Given the description of an element on the screen output the (x, y) to click on. 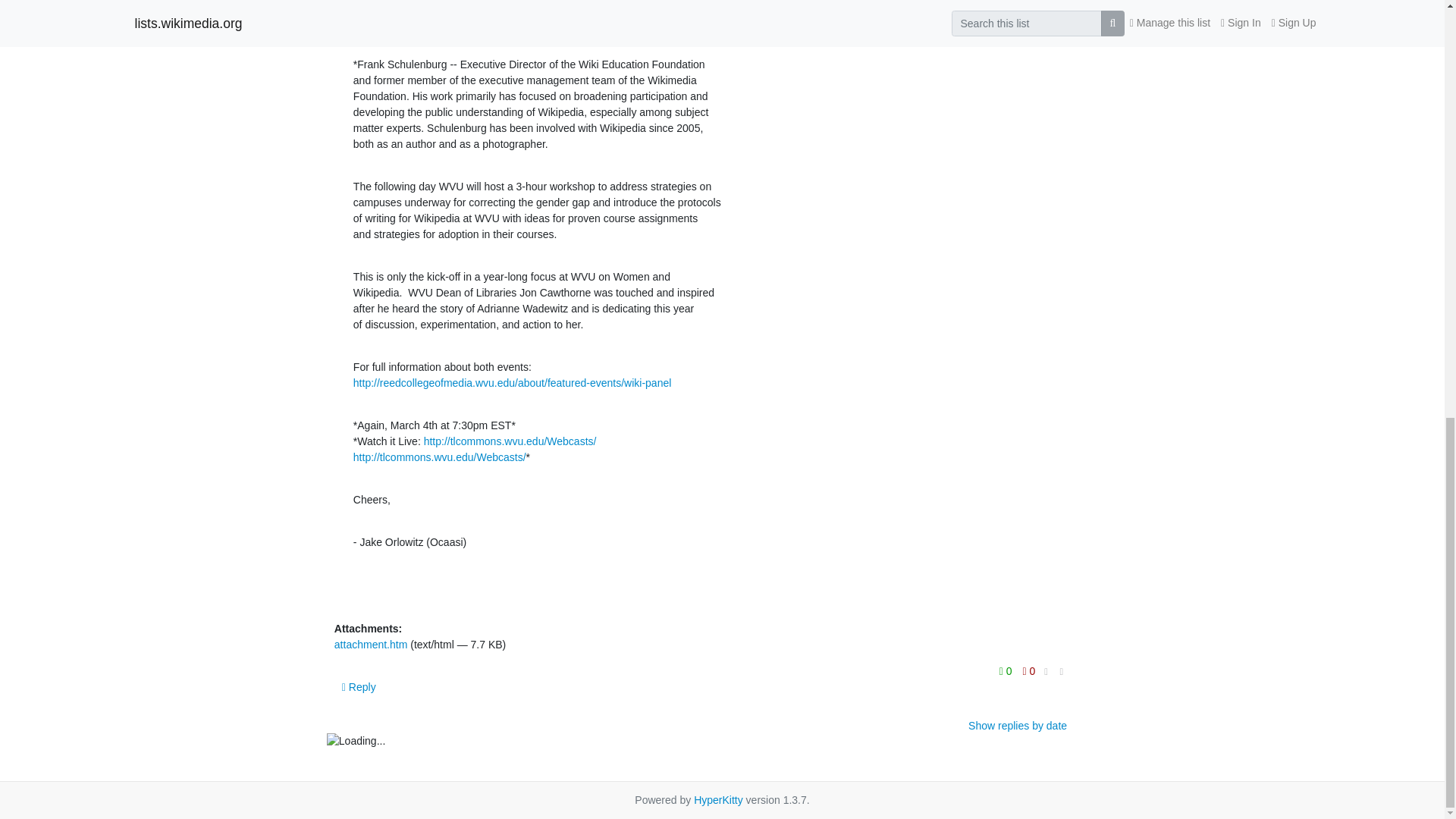
You must be logged-in to vote. (1007, 670)
Sign in to reply online (359, 687)
You must be logged-in to vote. (1029, 670)
